Given the description of an element on the screen output the (x, y) to click on. 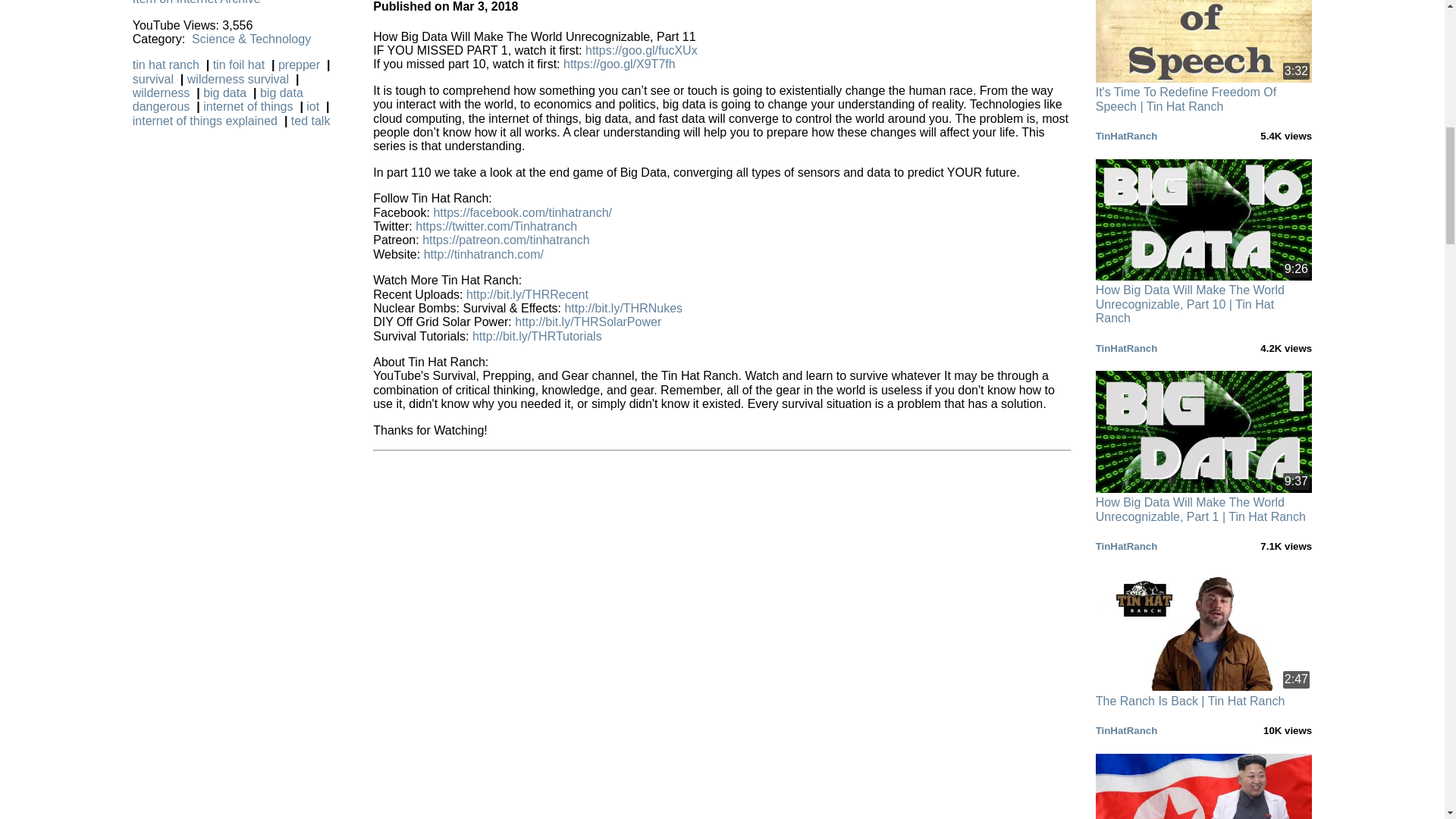
prepper  (302, 64)
Item on Internet Archive (196, 2)
internet of things explained  (207, 120)
TinHatRanch (1126, 135)
ted talk  (312, 120)
internet of things  (251, 106)
tin foil hat  (241, 64)
wilderness survival  (241, 78)
wilderness  (164, 92)
big data dangerous  (217, 99)
iot  (315, 106)
big data  (228, 92)
tin hat ranch  (167, 64)
survival  (156, 78)
